Given the description of an element on the screen output the (x, y) to click on. 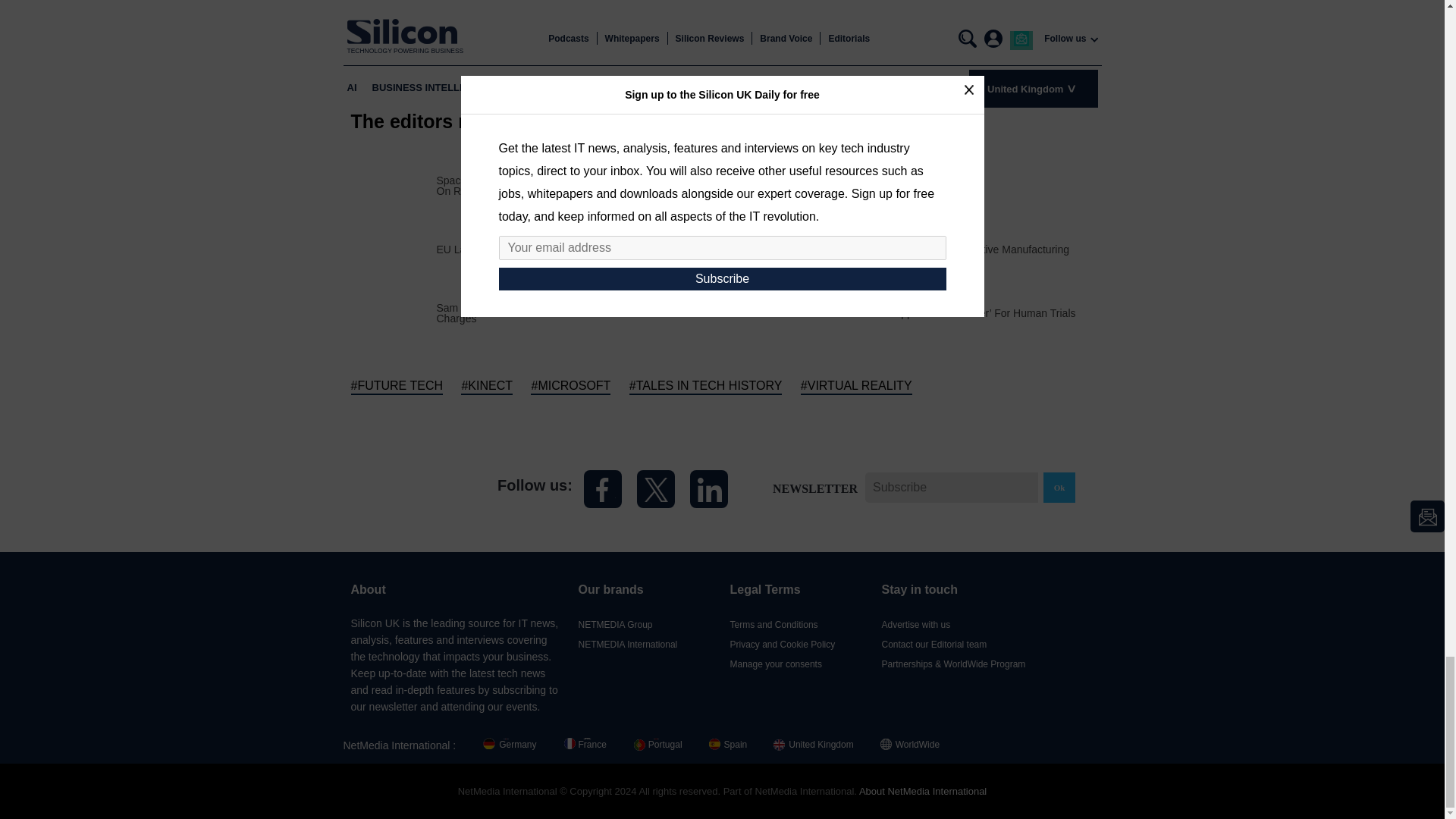
554778Tales In Tech History: Microsoft Kinect (393, 184)
522767Tales In Tech History: Microsoft Kinect (393, 247)
EU Launches Probe Into Spanish Ride-Hailing Restrictions (574, 249)
546148Tales In Tech History: Microsoft Kinect (764, 184)
Sam Bankman-Fried Pleads Not Guilty To Additional Charges (579, 312)
504455Tales In Tech History: Microsoft Kinect (393, 311)
Printing the Future: The State of Additive Manufacturing (939, 249)
Consumer Tech in Business (873, 185)
503466Tales In Tech History: Microsoft Kinect (764, 311)
519489Tales In Tech History: Microsoft Kinect (764, 247)
